Given the description of an element on the screen output the (x, y) to click on. 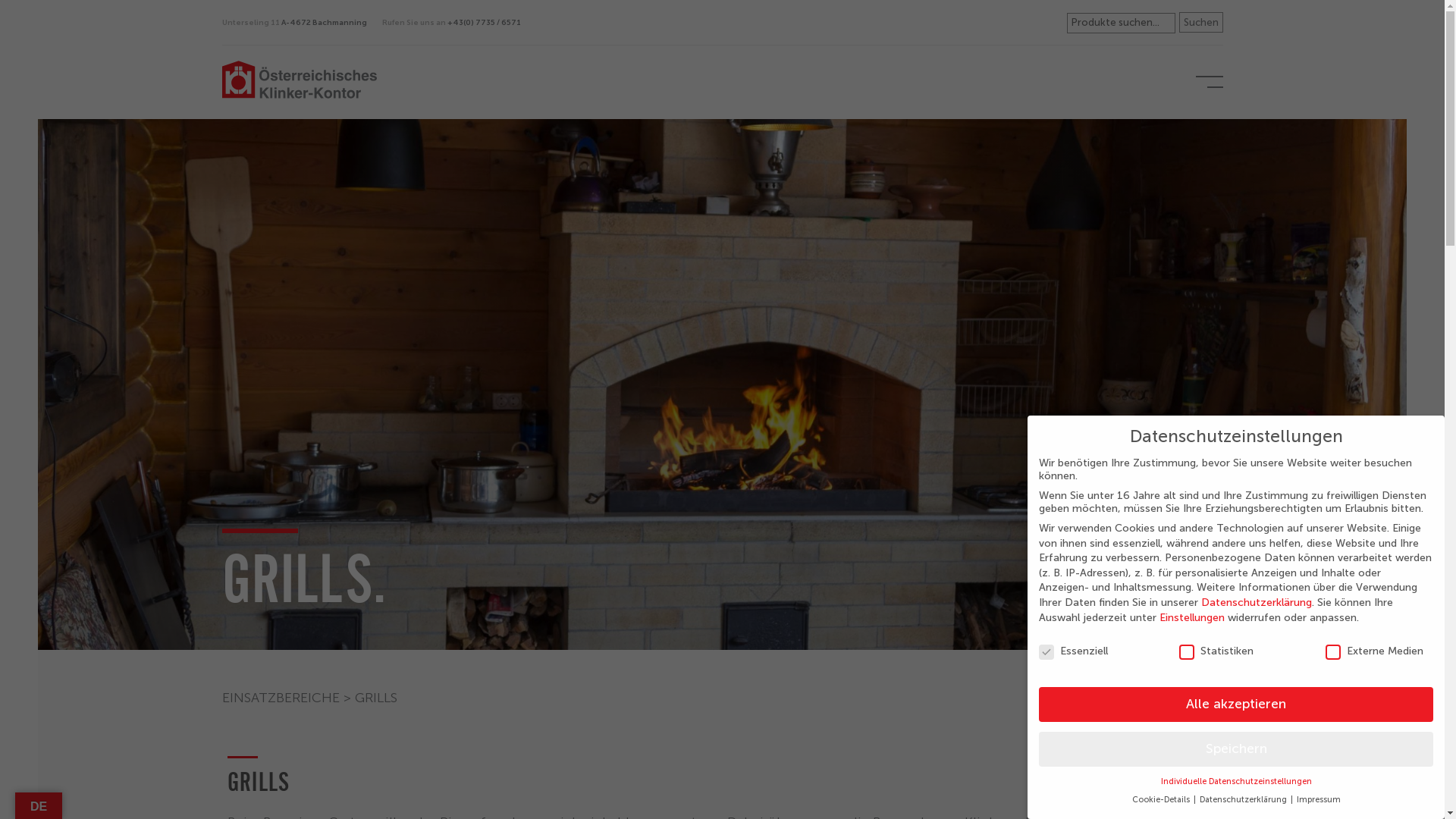
EINSATZBEREICHE Element type: text (279, 697)
Impressum Element type: text (1318, 799)
Individuelle Datenschutzeinstellungen Element type: text (1235, 781)
Einstellungen Element type: text (1191, 617)
Suchen Element type: text (1200, 22)
Cookie-Details Element type: text (1161, 799)
Alle akzeptieren Element type: text (1235, 704)
Speichern Element type: text (1235, 748)
Rufen Sie uns an +43(0) 7735 / 6571 Element type: text (451, 25)
